Given the description of an element on the screen output the (x, y) to click on. 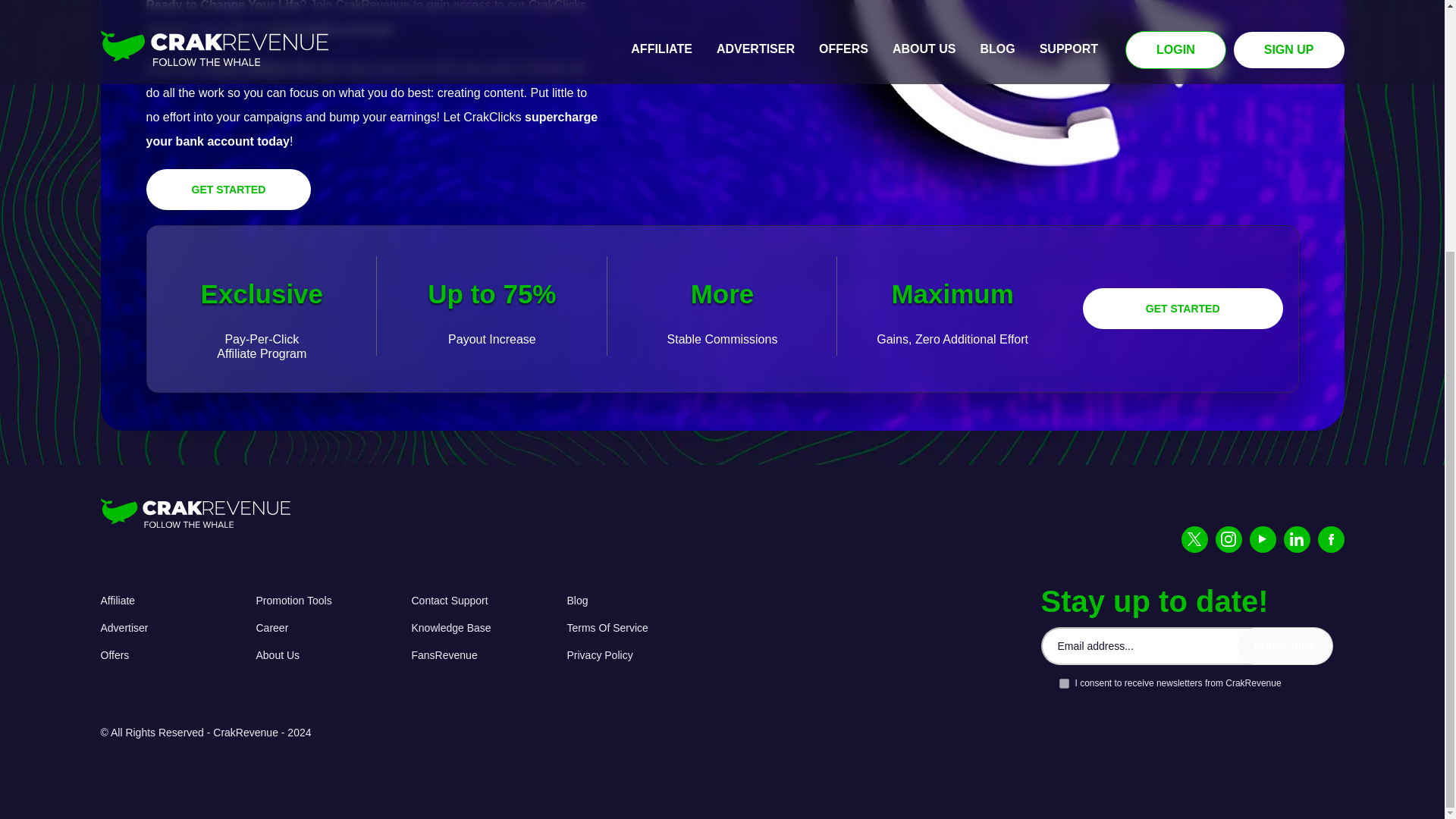
Subscribe (1284, 646)
I consent to receive newsletters from CrakRevenue (1063, 683)
GET STARTED (228, 188)
